Given the description of an element on the screen output the (x, y) to click on. 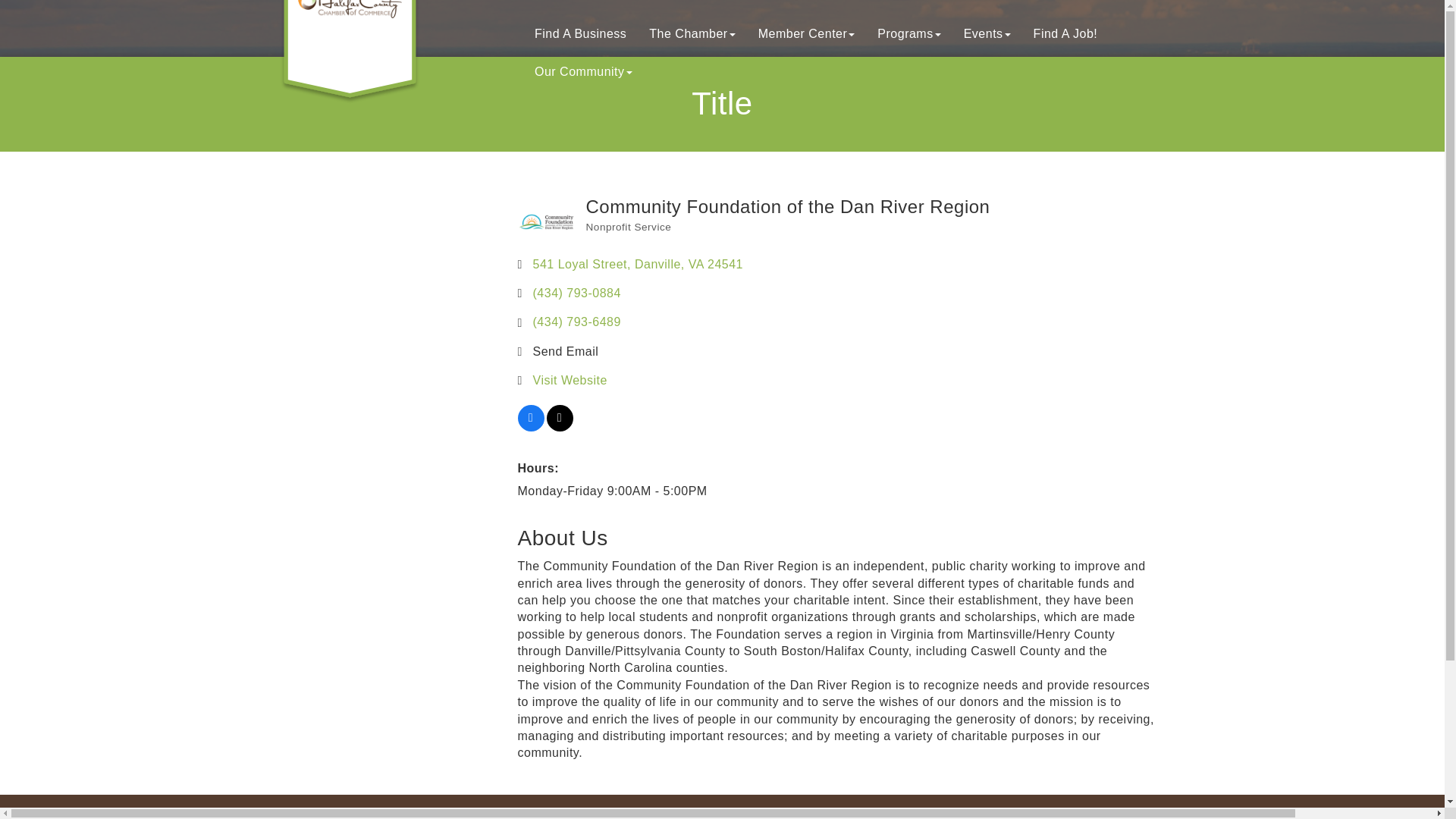
Find A Business (579, 34)
View on Facebook (529, 427)
Member Center (806, 34)
View on Twitter (559, 427)
Events (987, 34)
Programs (909, 34)
Community Foundation of the Dan River Region (544, 221)
Find A Job! (1065, 34)
Our Community (582, 71)
The Chamber (691, 34)
